Given the description of an element on the screen output the (x, y) to click on. 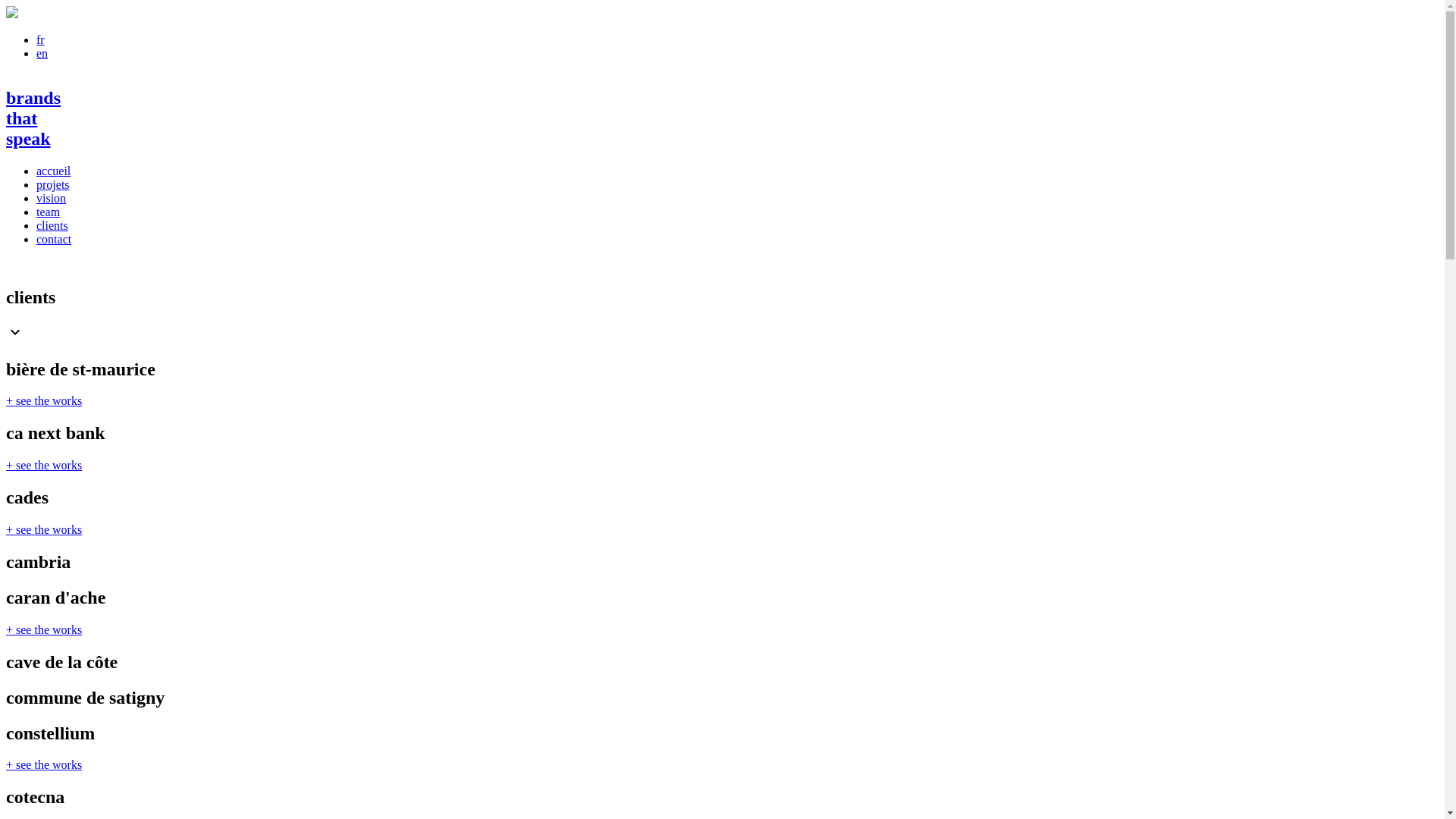
+ see the works Element type: text (43, 464)
en Element type: text (41, 53)
+ see the works Element type: text (43, 400)
+ see the works Element type: text (43, 529)
+ see the works Element type: text (43, 629)
vision Element type: text (50, 197)
+ see the works Element type: text (43, 764)
contact Element type: text (53, 238)
projets Element type: text (52, 184)
accueil Element type: text (53, 170)
clients Element type: text (52, 225)
fr Element type: text (40, 39)
team Element type: text (47, 211)
brands
that
speak Element type: text (722, 118)
